Given the description of an element on the screen output the (x, y) to click on. 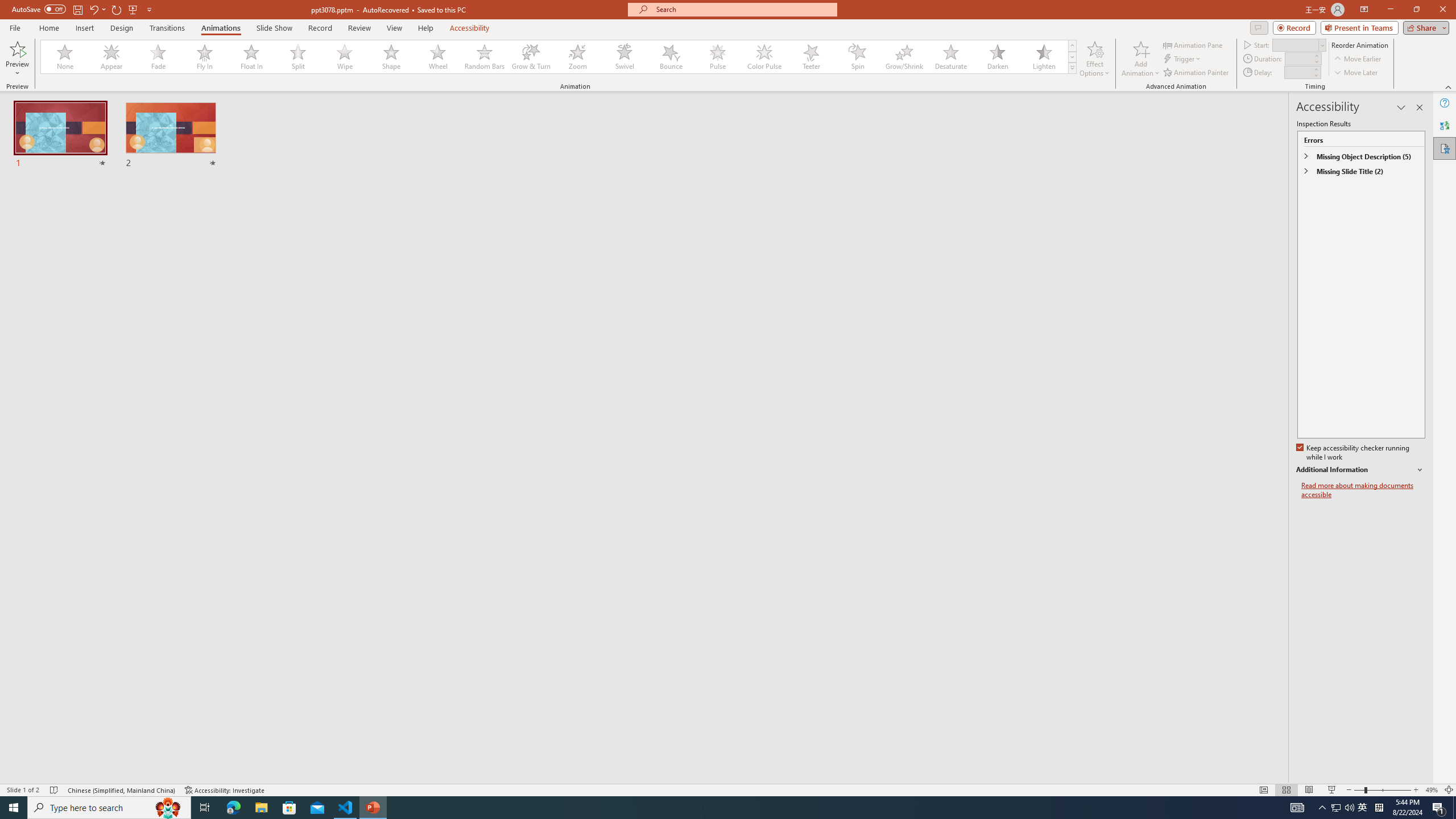
Appear (111, 56)
Add Animation (1141, 58)
Shape (391, 56)
